Given the description of an element on the screen output the (x, y) to click on. 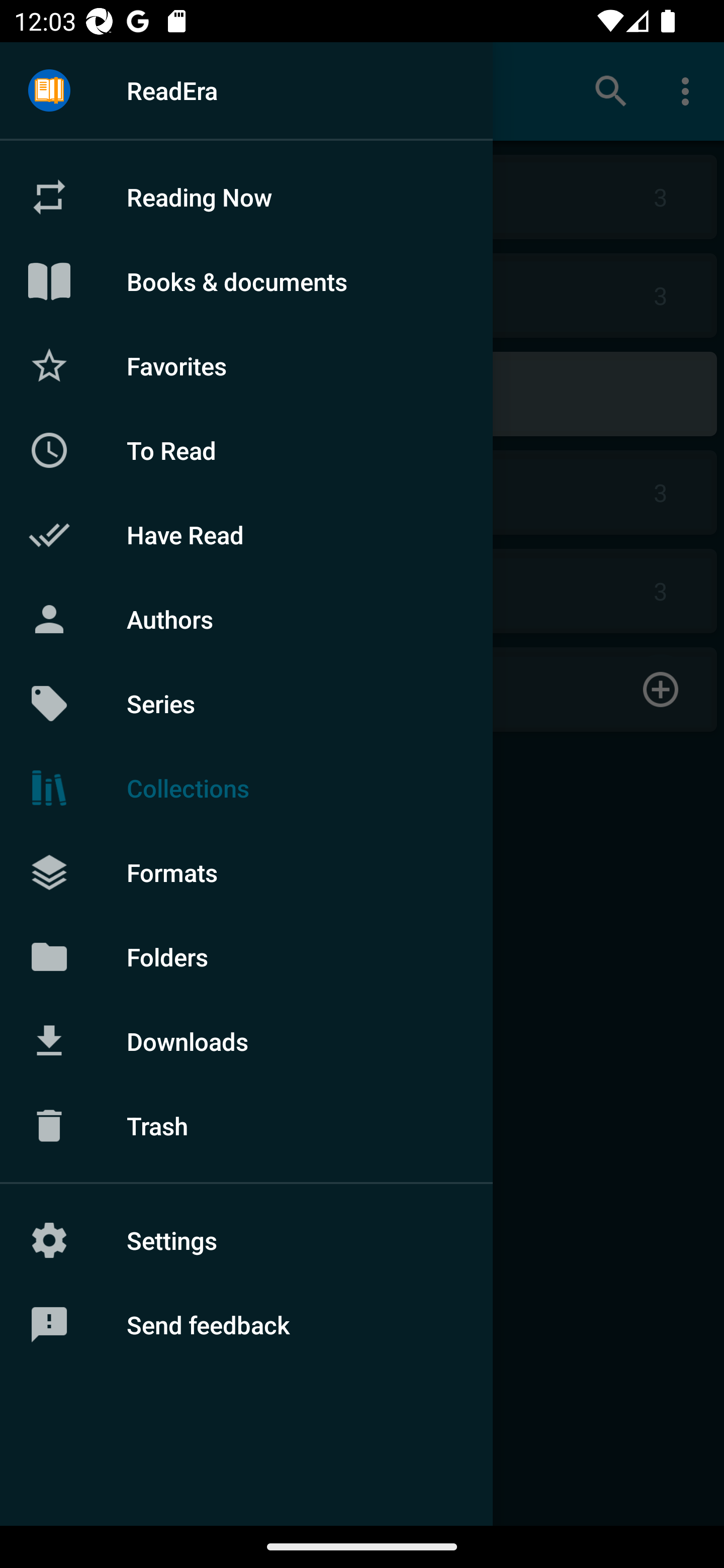
Menu (49, 91)
ReadEra (246, 89)
Search books & documents (611, 90)
More options (688, 90)
Reading Now (246, 197)
Books & documents (246, 281)
Favorites (246, 365)
To Read (246, 449)
Have Read (246, 534)
Authors (246, 619)
Series (246, 703)
Collections (246, 787)
Formats (246, 871)
Folders (246, 956)
Downloads (246, 1040)
Trash (246, 1125)
Settings (246, 1239)
Send feedback (246, 1324)
